Given the description of an element on the screen output the (x, y) to click on. 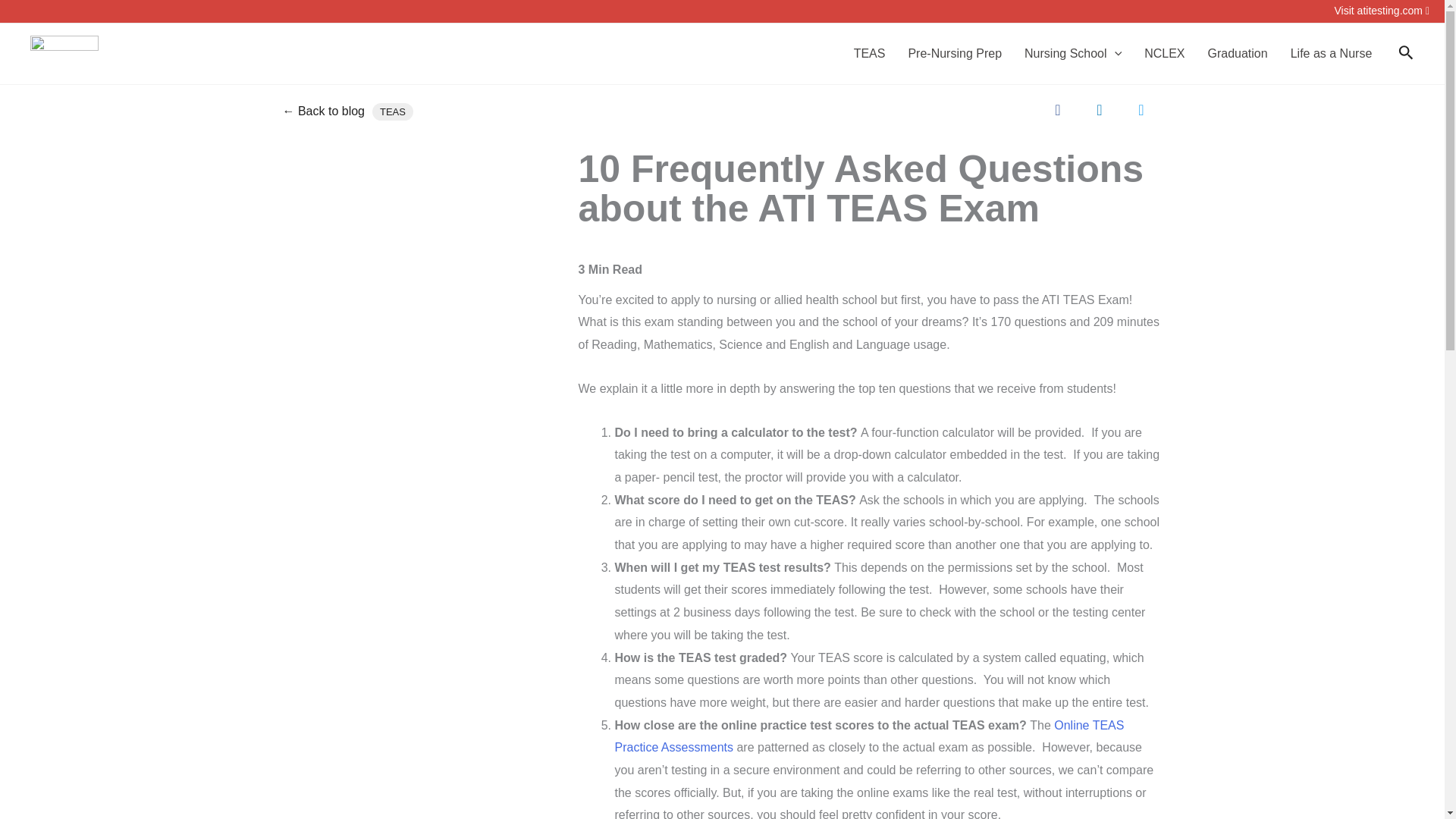
Life as a Nurse (1331, 53)
Pre-Nursing Prep (954, 53)
Visit atitesting.com (1382, 10)
TEAS (869, 53)
Online TEAS Practice Assessments (869, 736)
Nursing School (1072, 53)
TEAS (392, 111)
NCLEX (1163, 53)
Graduation (1237, 53)
